Given the description of an element on the screen output the (x, y) to click on. 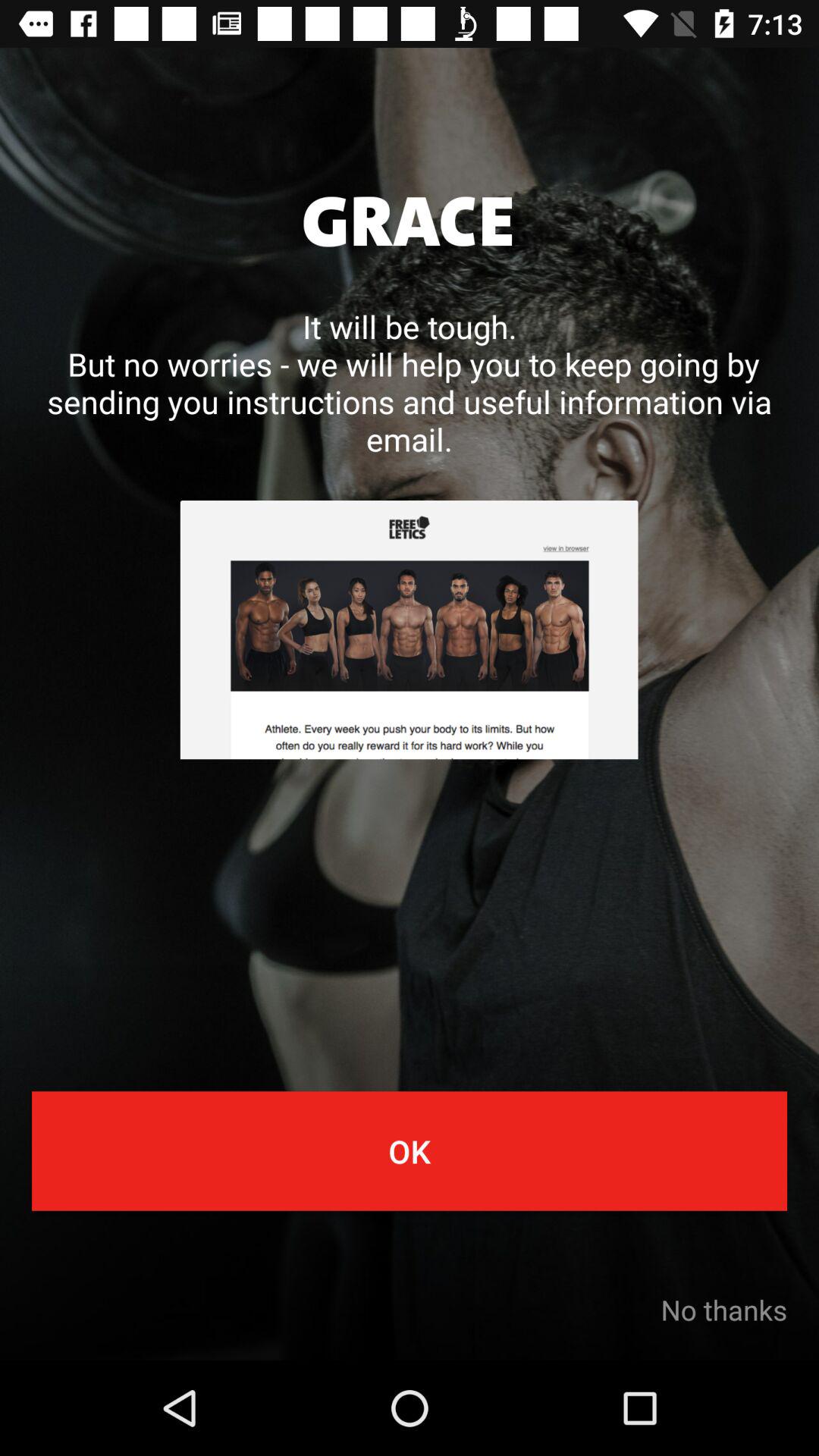
turn off the item below the ok icon (723, 1309)
